Given the description of an element on the screen output the (x, y) to click on. 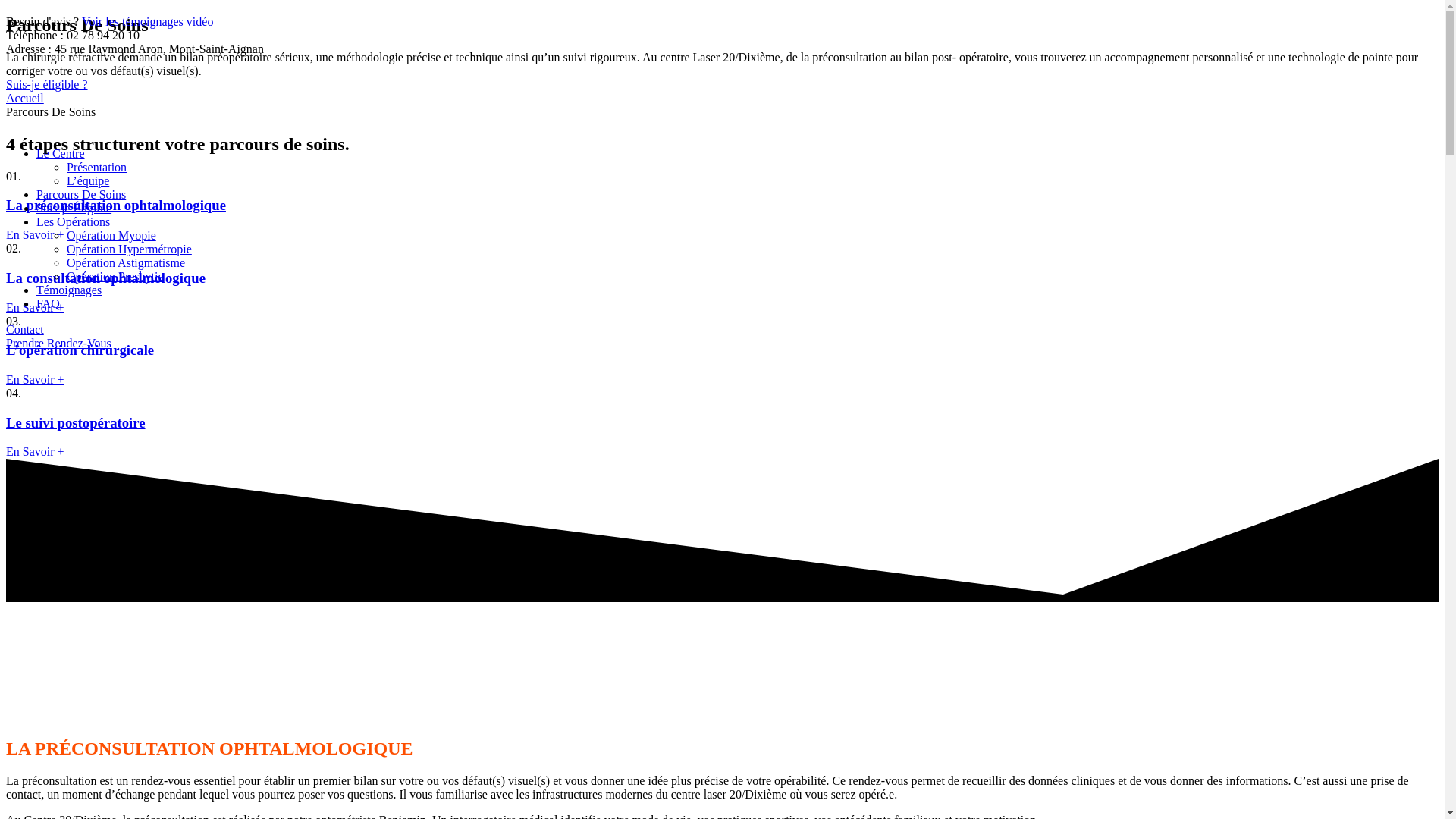
Le Centre Element type: text (60, 153)
Prendre Rendez-Vous Element type: text (58, 342)
La consultation ophtalmologique Element type: text (105, 277)
En Savoir + Element type: text (35, 379)
FAQ Element type: text (47, 303)
Parcours De Soins Element type: text (80, 194)
En Savoir + Element type: text (35, 306)
En Savoir + Element type: text (35, 451)
Accueil Element type: text (24, 97)
En Savoir + Element type: text (35, 234)
45 rue Raymond Aron, Mont-Saint-Aignan Element type: text (158, 48)
02 78 94 20 10 Element type: text (102, 34)
Contact Element type: text (24, 329)
